Given the description of an element on the screen output the (x, y) to click on. 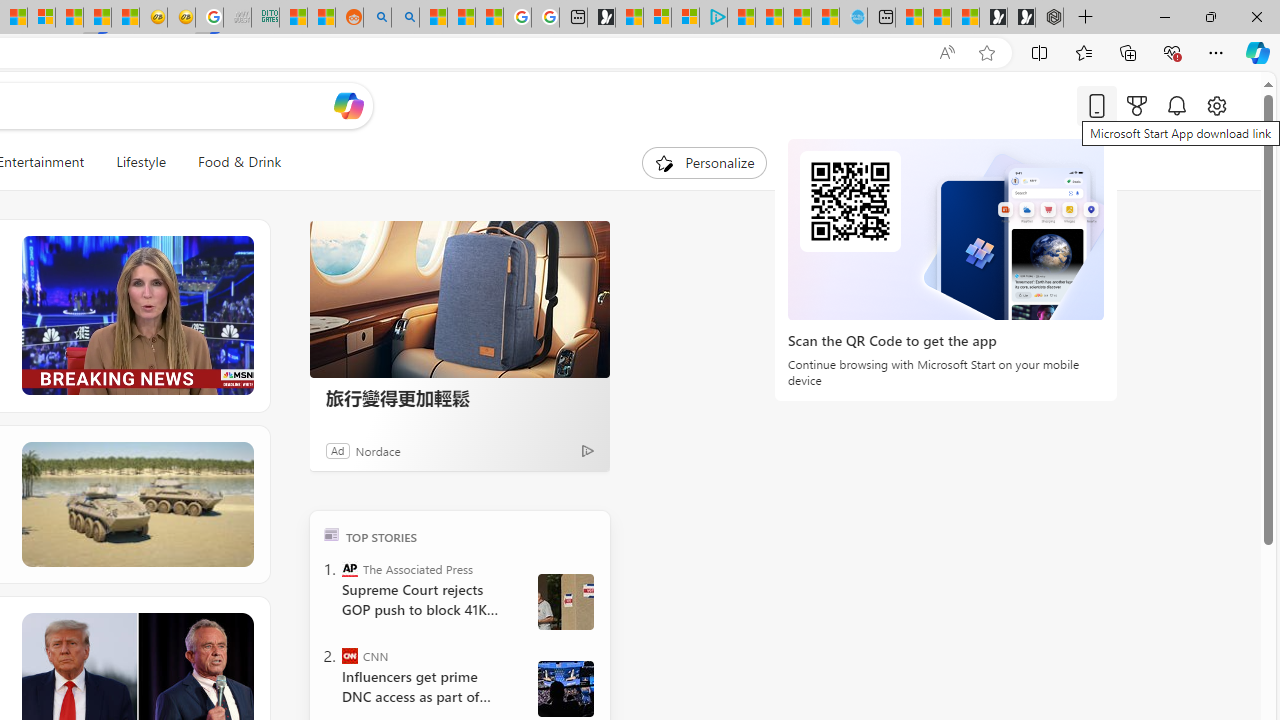
Personalize (703, 162)
The Associated Press (349, 568)
CNN (349, 655)
Class: hero-image (136, 316)
